Given the description of an element on the screen output the (x, y) to click on. 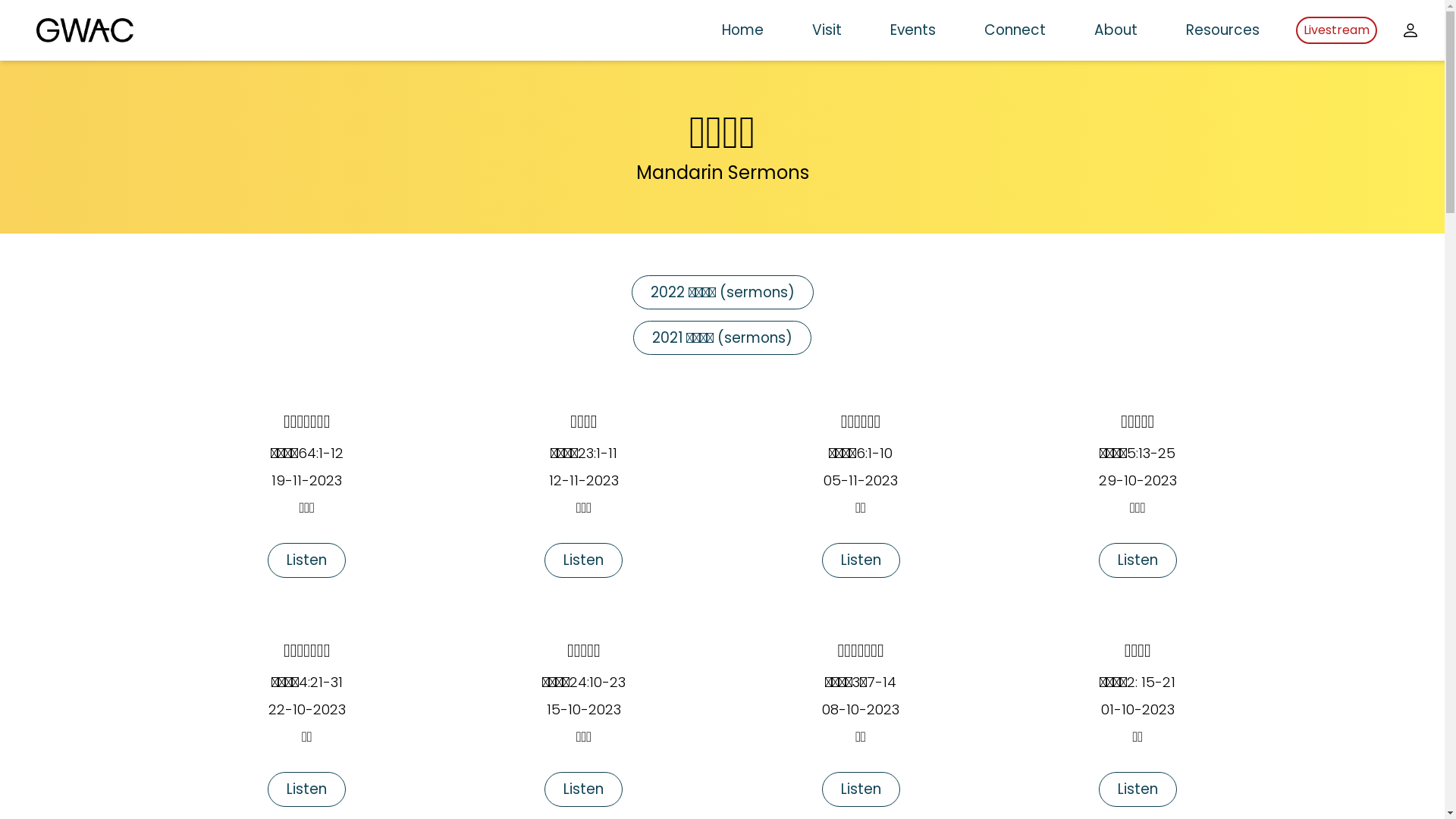
Events Element type: text (912, 30)
Listen Element type: text (861, 788)
Listen Element type: text (583, 788)
Listen Element type: text (583, 559)
Connect Element type: text (1014, 30)
Listen Element type: text (1137, 559)
Home Element type: text (742, 30)
Visit Element type: text (826, 30)
Resources Element type: text (1222, 30)
Listen Element type: text (861, 559)
Listen Element type: text (306, 559)
Livestream Element type: text (1336, 29)
Listen Element type: text (1137, 788)
About Element type: text (1115, 30)
Listen Element type: text (306, 788)
